Given the description of an element on the screen output the (x, y) to click on. 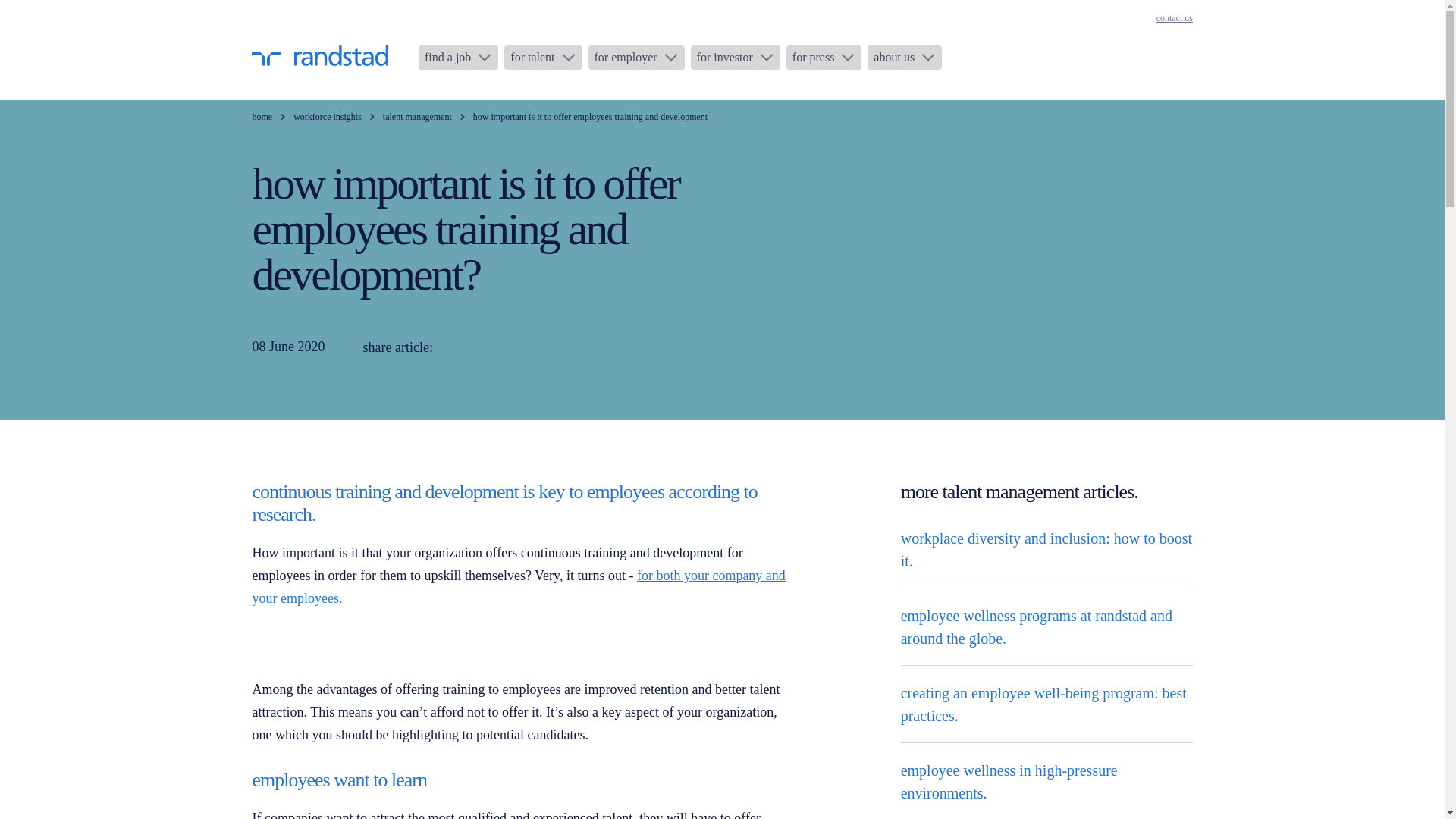
share this article on twitter (495, 346)
share this article on linkedin (459, 346)
find a job (458, 57)
share this article on facebook (531, 346)
for employer (636, 57)
for talent (541, 57)
contact us (1174, 18)
